Given the description of an element on the screen output the (x, y) to click on. 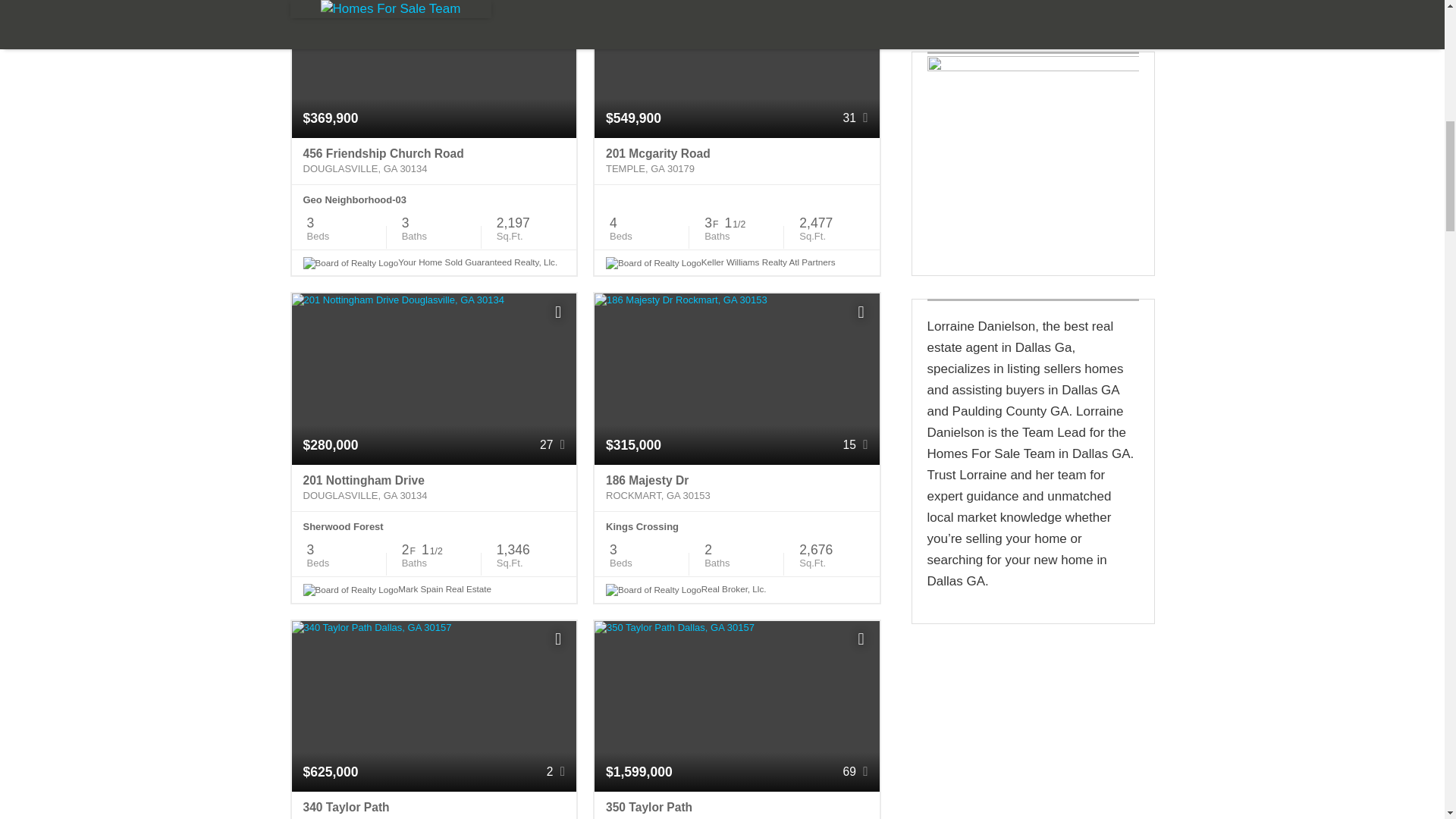
340 Taylor Path Dallas,  GA 30157 (433, 805)
350 Taylor Path Dallas,  GA 30157 (736, 805)
456 Friendship Church Road Douglasville,  GA 30134 (433, 161)
186 Majesty Dr Rockmart,  GA 30153 (736, 488)
201 Mcgarity Road Temple,  GA 30179 (736, 161)
201 Nottingham Drive Douglasville,  GA 30134 (433, 488)
